Given the description of an element on the screen output the (x, y) to click on. 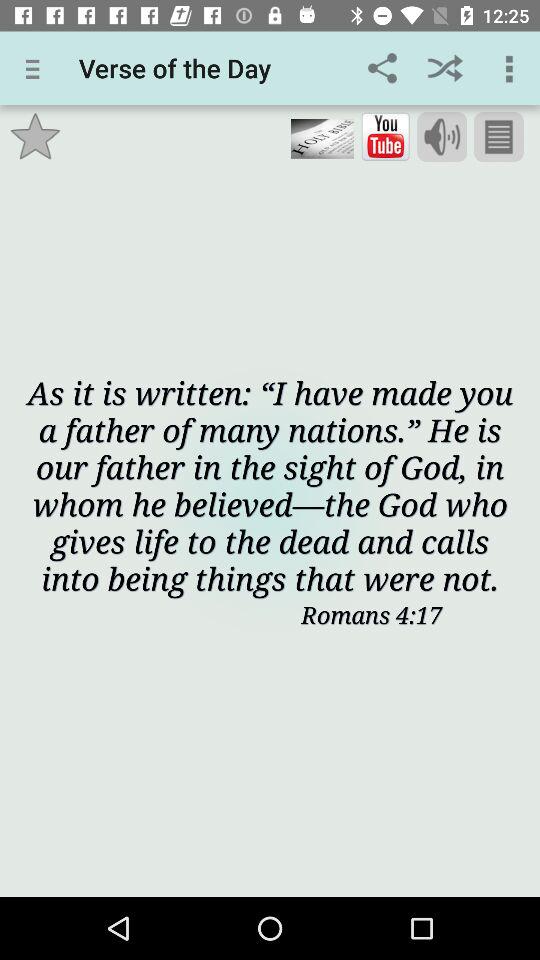
turn on the icon above the as it is (35, 136)
